Given the description of an element on the screen output the (x, y) to click on. 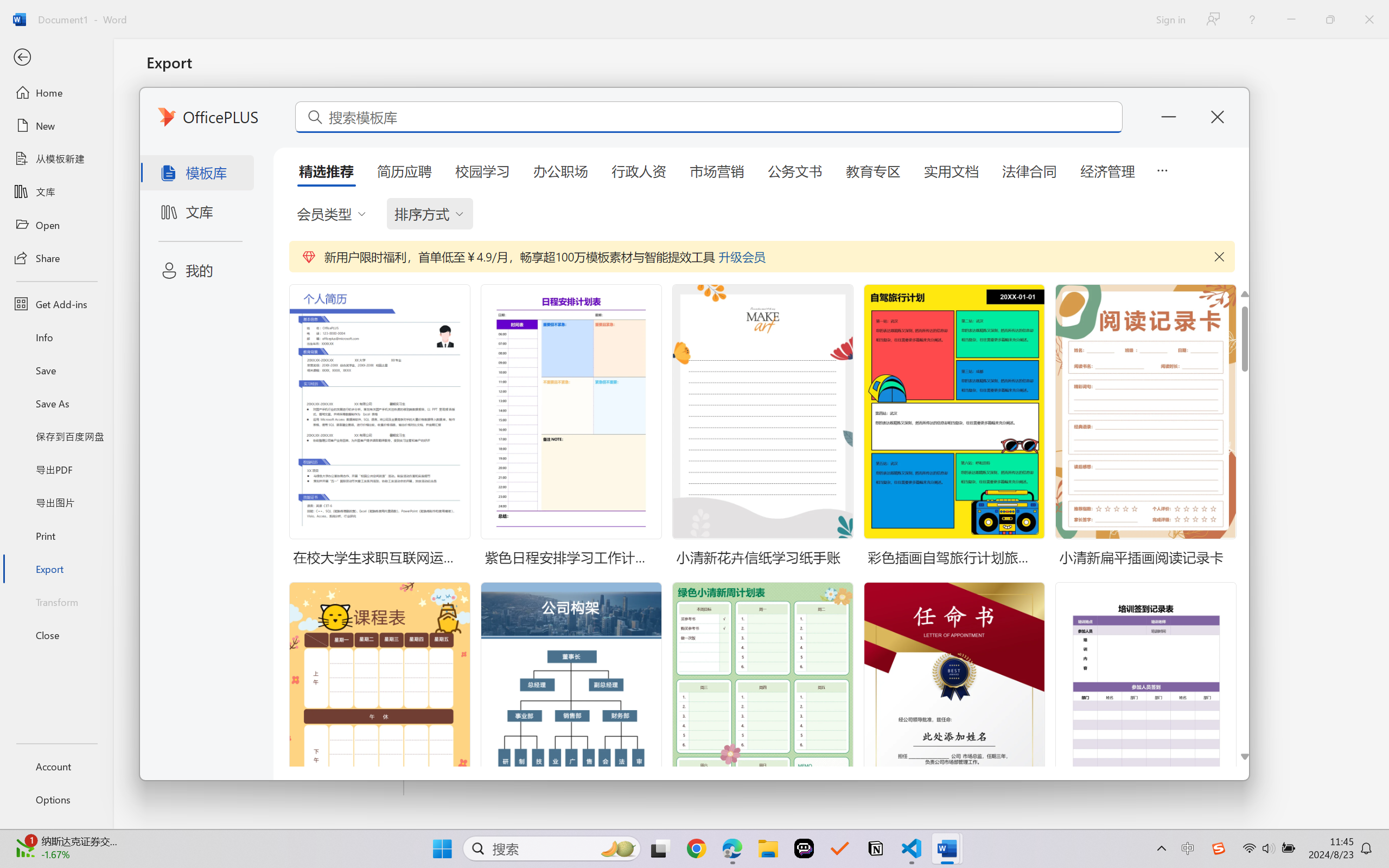
Options (56, 798)
